Given the description of an element on the screen output the (x, y) to click on. 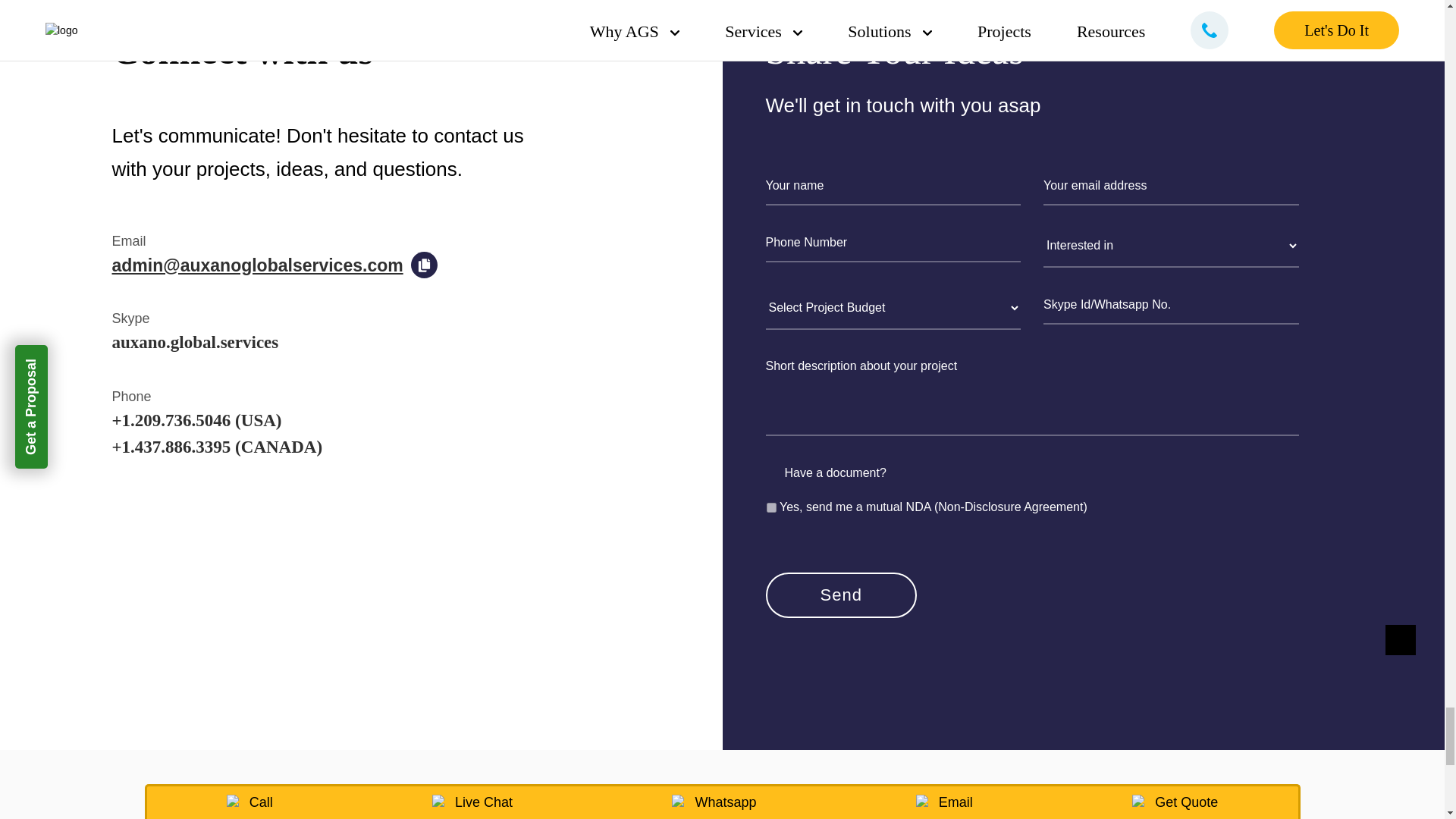
Send (841, 595)
Yes (770, 507)
